Given the description of an element on the screen output the (x, y) to click on. 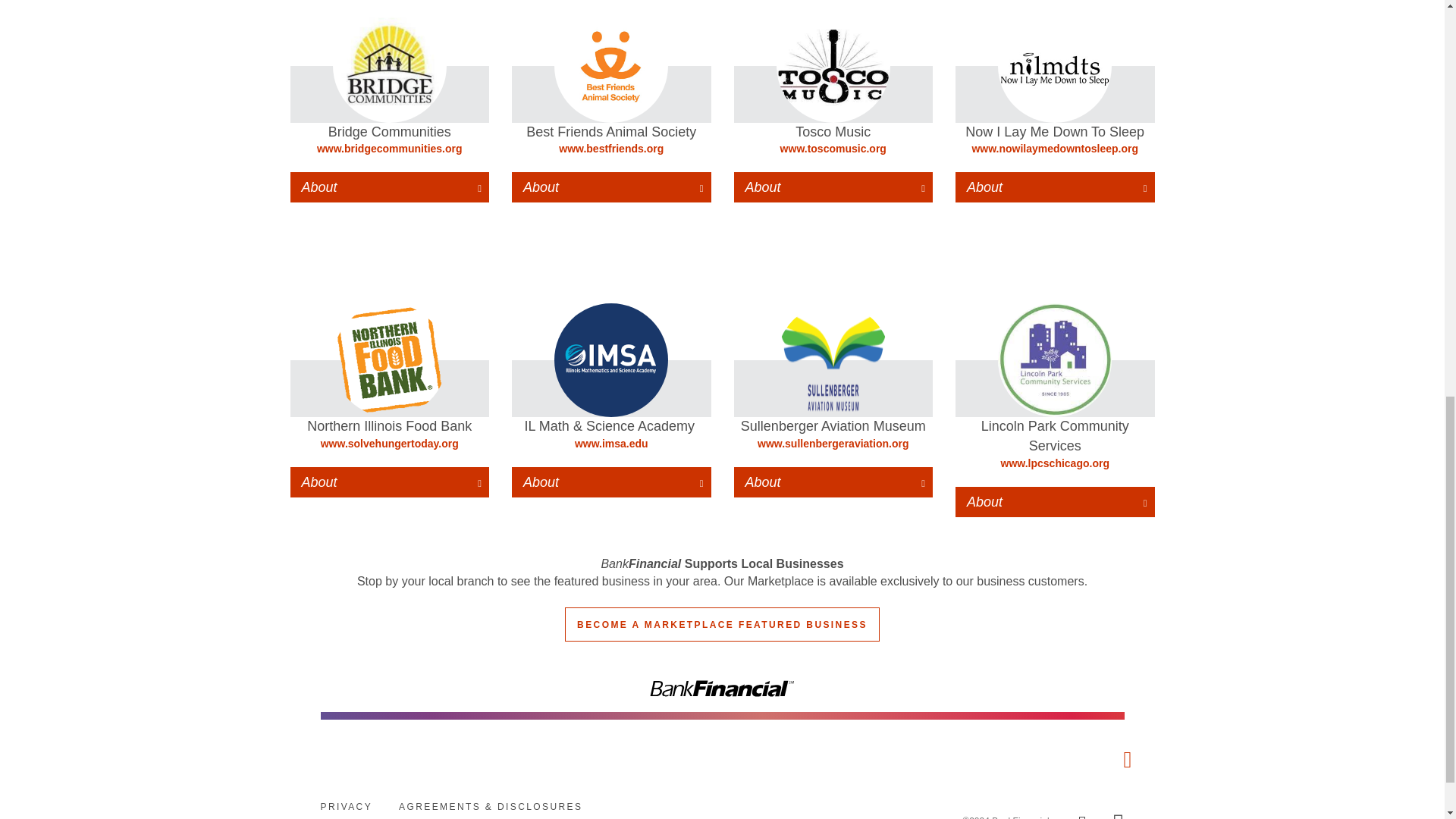
Equal Housing Lender (1118, 817)
